Given the description of an element on the screen output the (x, y) to click on. 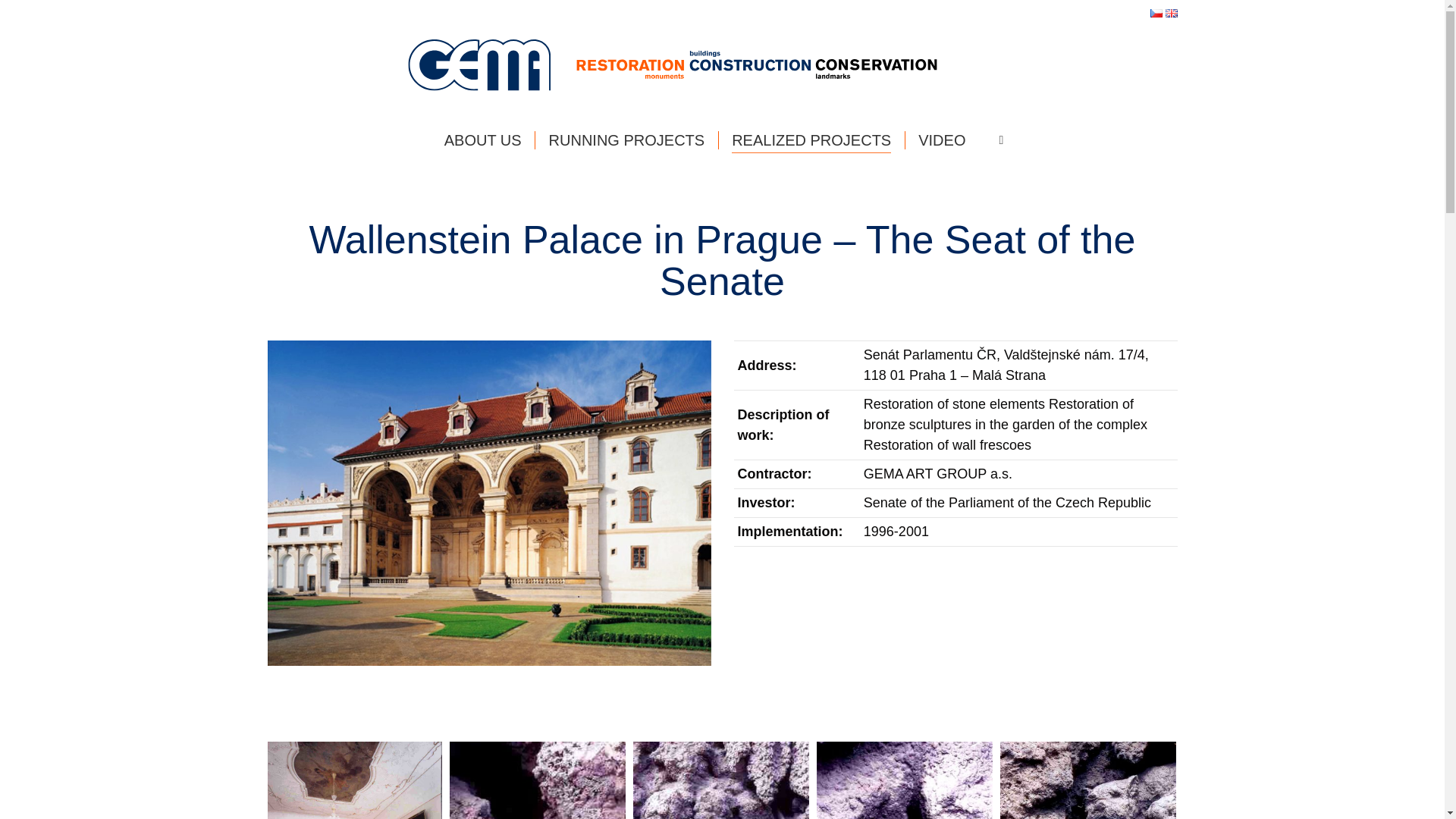
REALIZED PROJECTS (811, 139)
RUNNING PROJECTS (626, 139)
ABOUT US (482, 139)
